Given the description of an element on the screen output the (x, y) to click on. 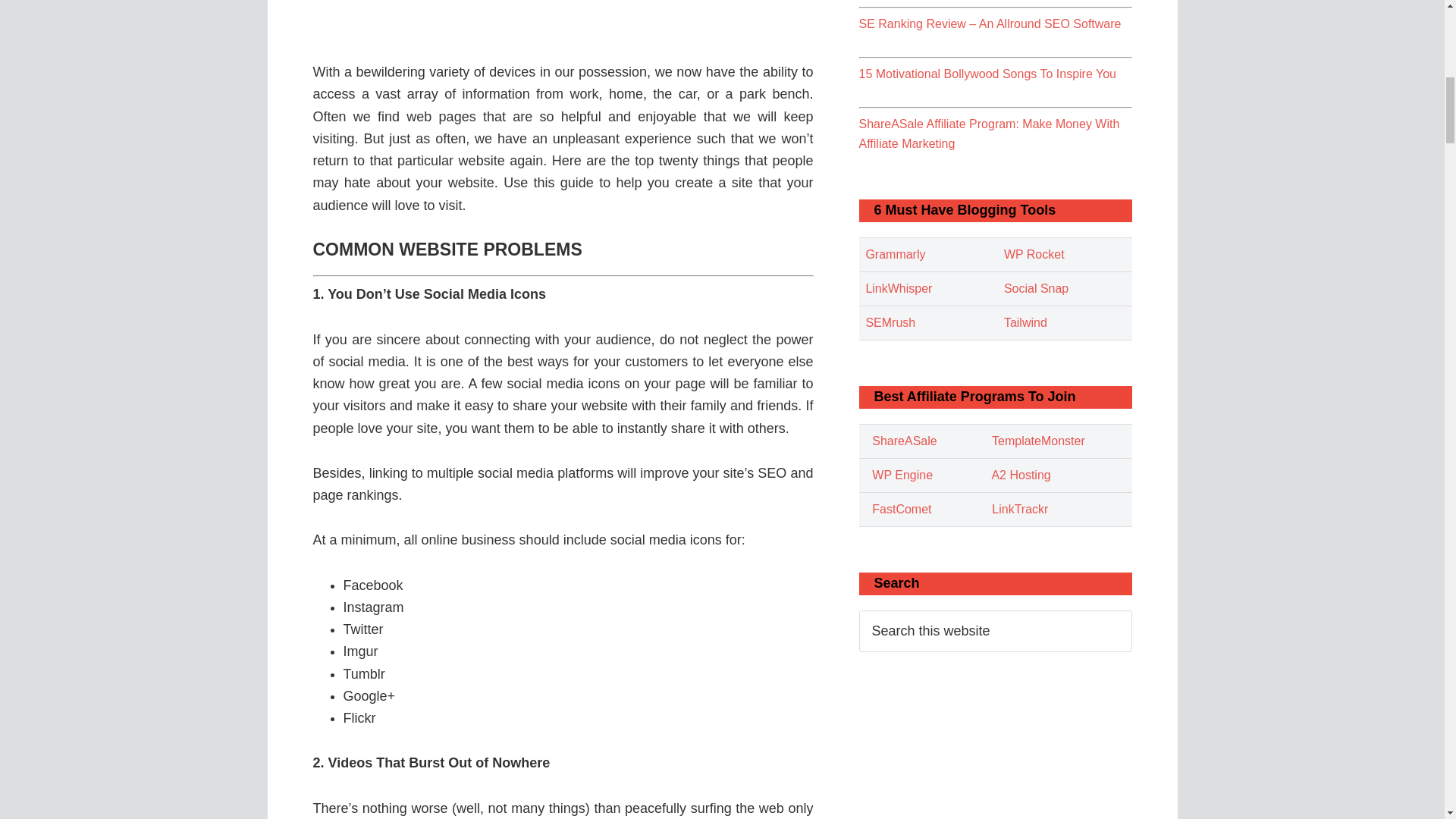
17 Things That Drive Us Crazy About Your Website 1 (562, 19)
